Given the description of an element on the screen output the (x, y) to click on. 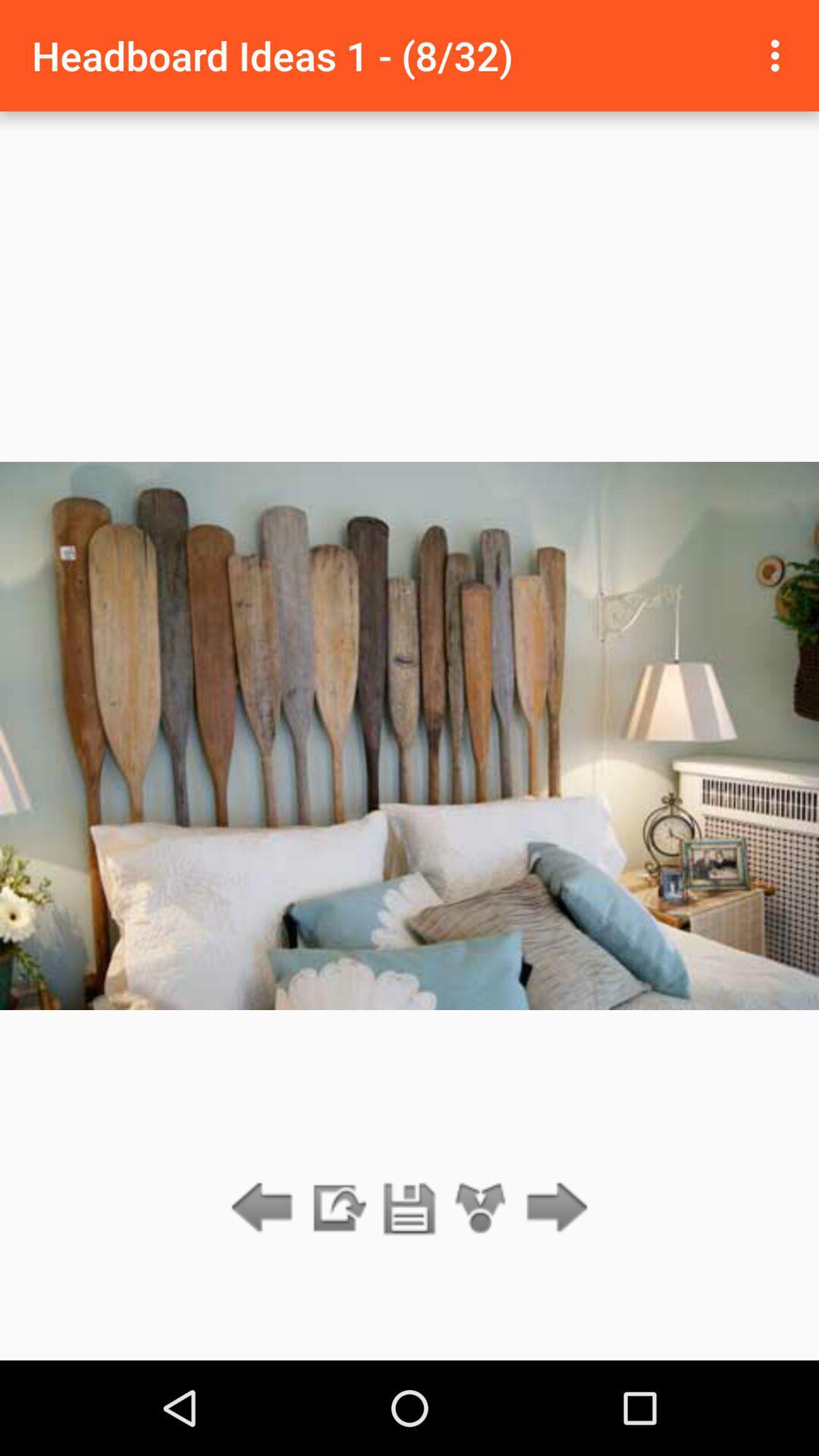
launch app below headboard ideas 1 (480, 1208)
